Given the description of an element on the screen output the (x, y) to click on. 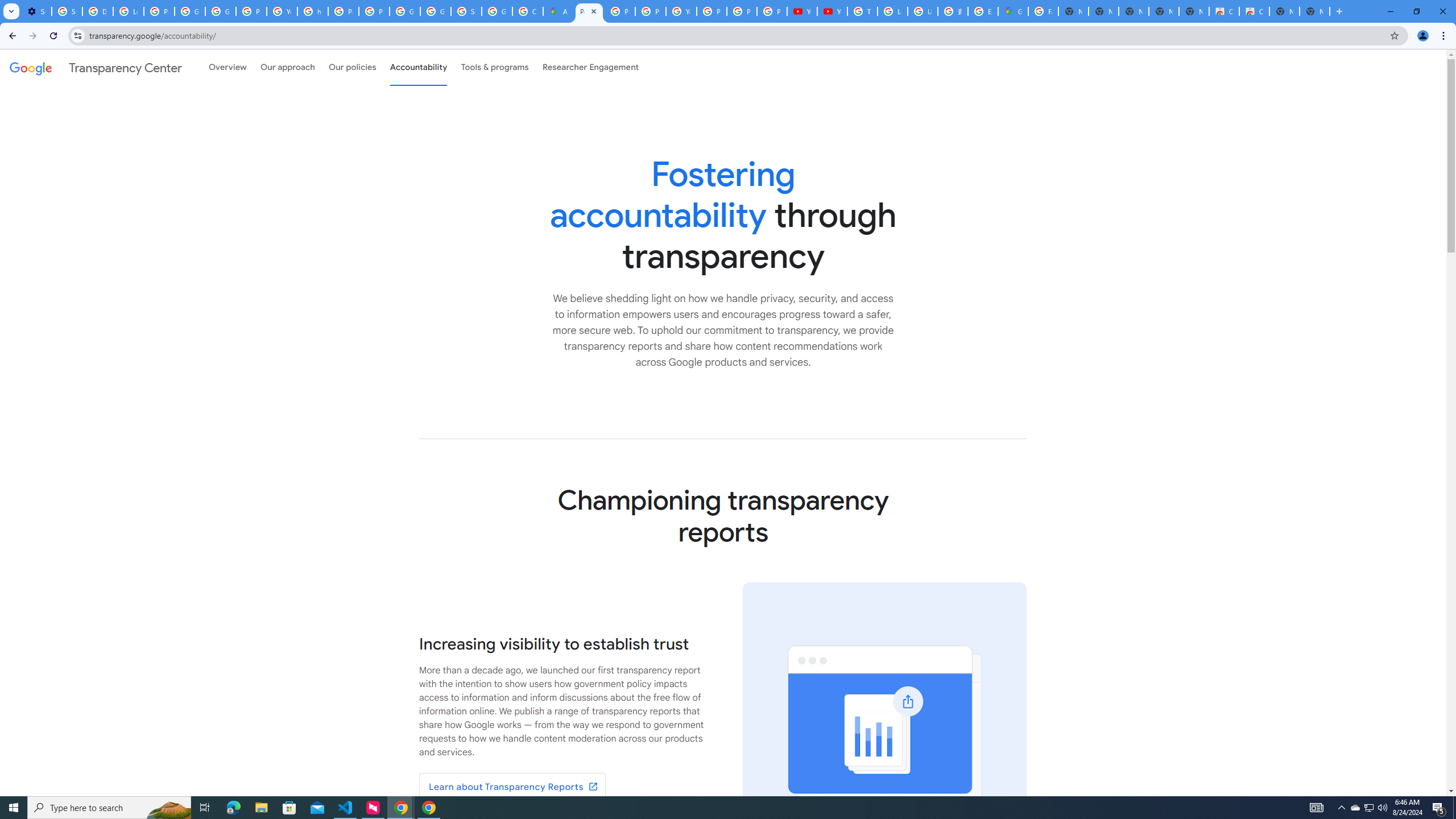
Classic Blue - Chrome Web Store (1224, 11)
Settings - On startup (36, 11)
YouTube (681, 11)
YouTube (282, 11)
https://scholar.google.com/ (312, 11)
Policy Accountability and Transparency - Transparency Center (589, 11)
Tips & tricks for Chrome - Google Chrome Help (862, 11)
Our approach (287, 67)
